Given the description of an element on the screen output the (x, y) to click on. 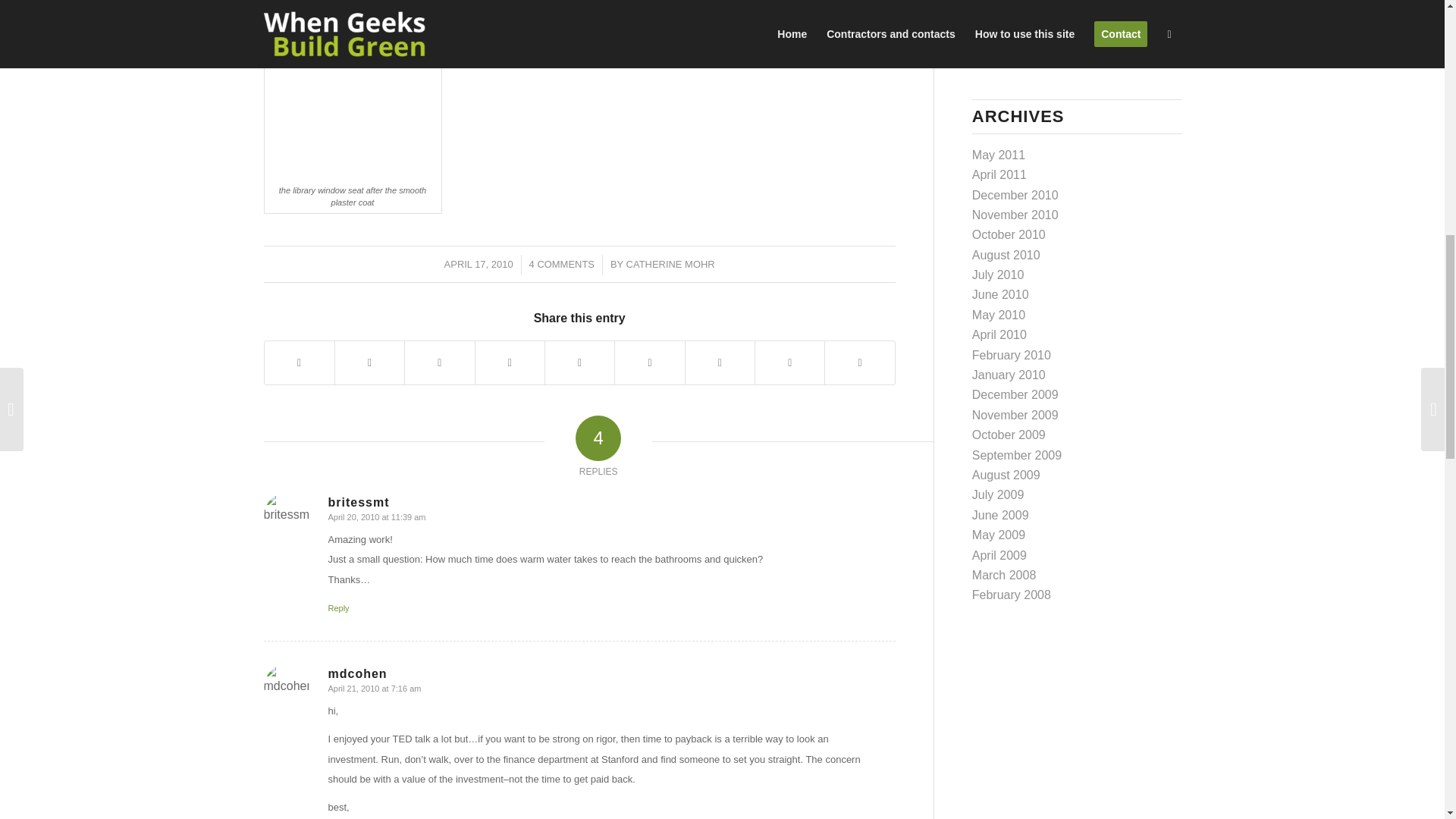
4 COMMENTS (561, 264)
CATHERINE MOHR (670, 264)
Reply (338, 607)
April 21, 2010 at 7:16 am (373, 687)
April 20, 2010 at 11:39 am (376, 516)
Posts by Catherine Mohr (670, 264)
